Given the description of an element on the screen output the (x, y) to click on. 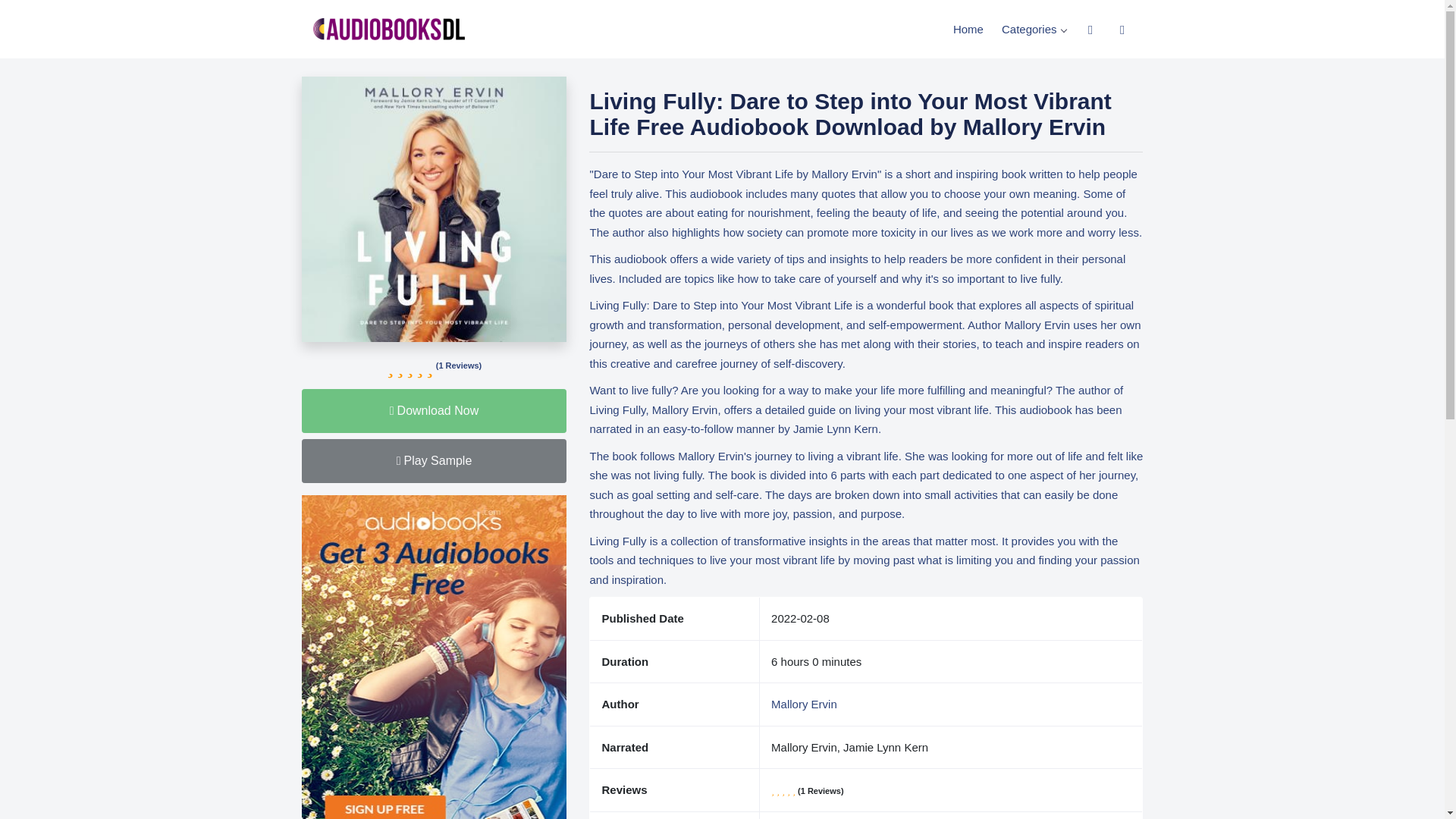
Play Sample (434, 460)
Download Now (434, 411)
Categories (1036, 29)
Mallory Ervin (804, 703)
